Given the description of an element on the screen output the (x, y) to click on. 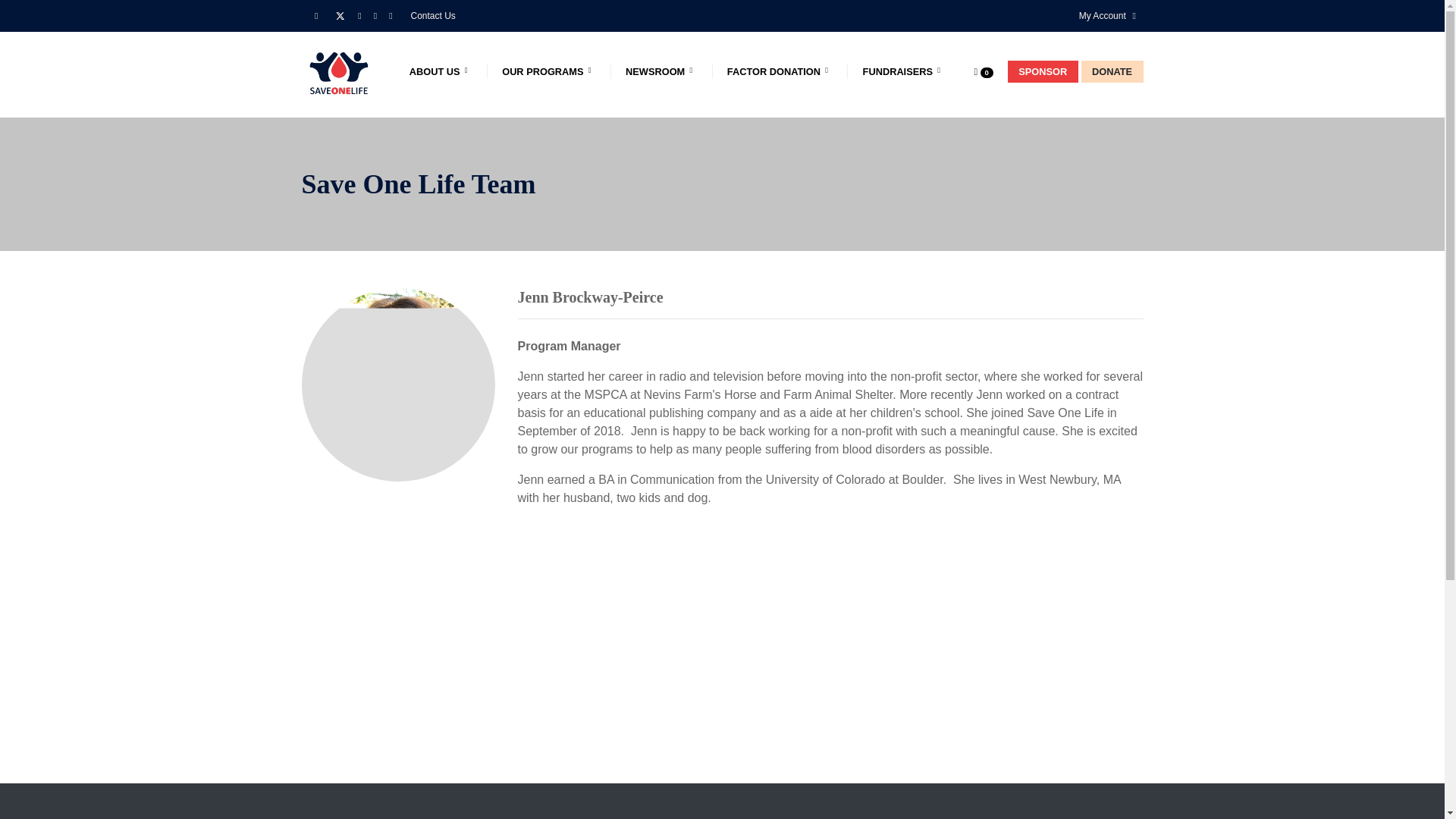
ABOUT US (440, 71)
NEWSROOM (662, 71)
Contact Us (426, 15)
My Account (1103, 15)
OUR PROGRAMS (549, 71)
